Given the description of an element on the screen output the (x, y) to click on. 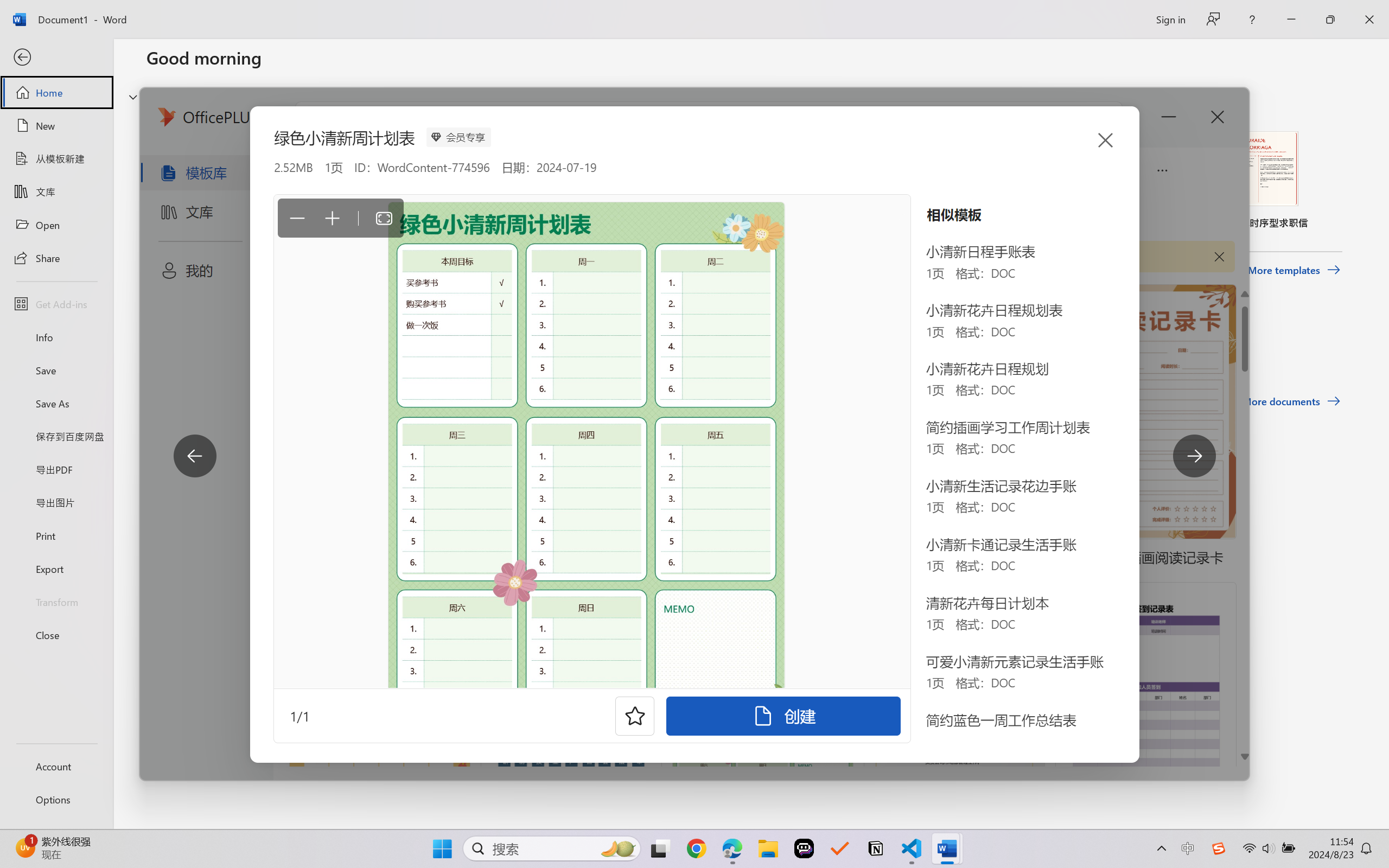
Get Add-ins (56, 303)
Info (56, 337)
Transform (56, 601)
Blank document (219, 180)
